Given the description of an element on the screen output the (x, y) to click on. 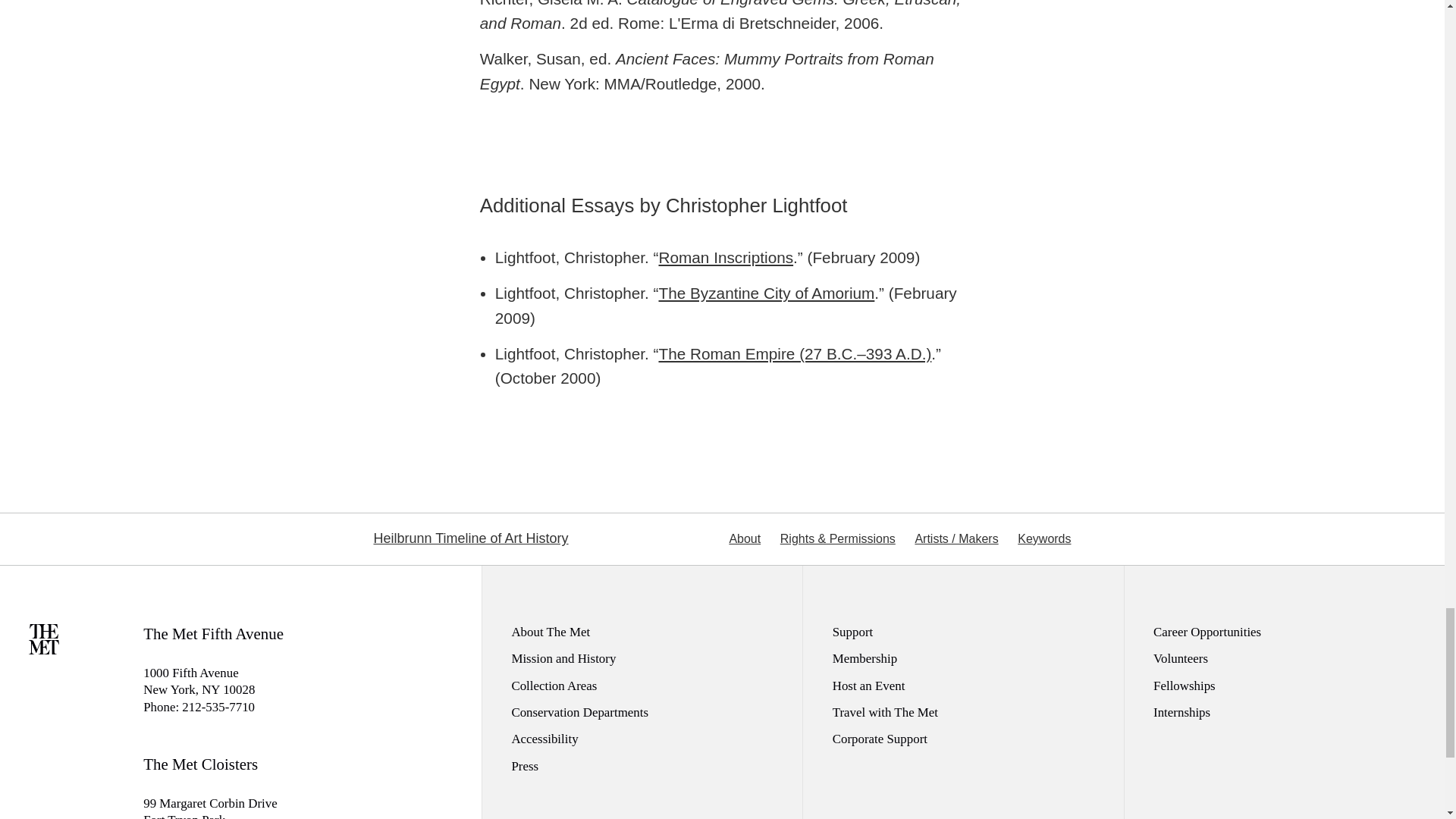
Homepage (44, 648)
